Given the description of an element on the screen output the (x, y) to click on. 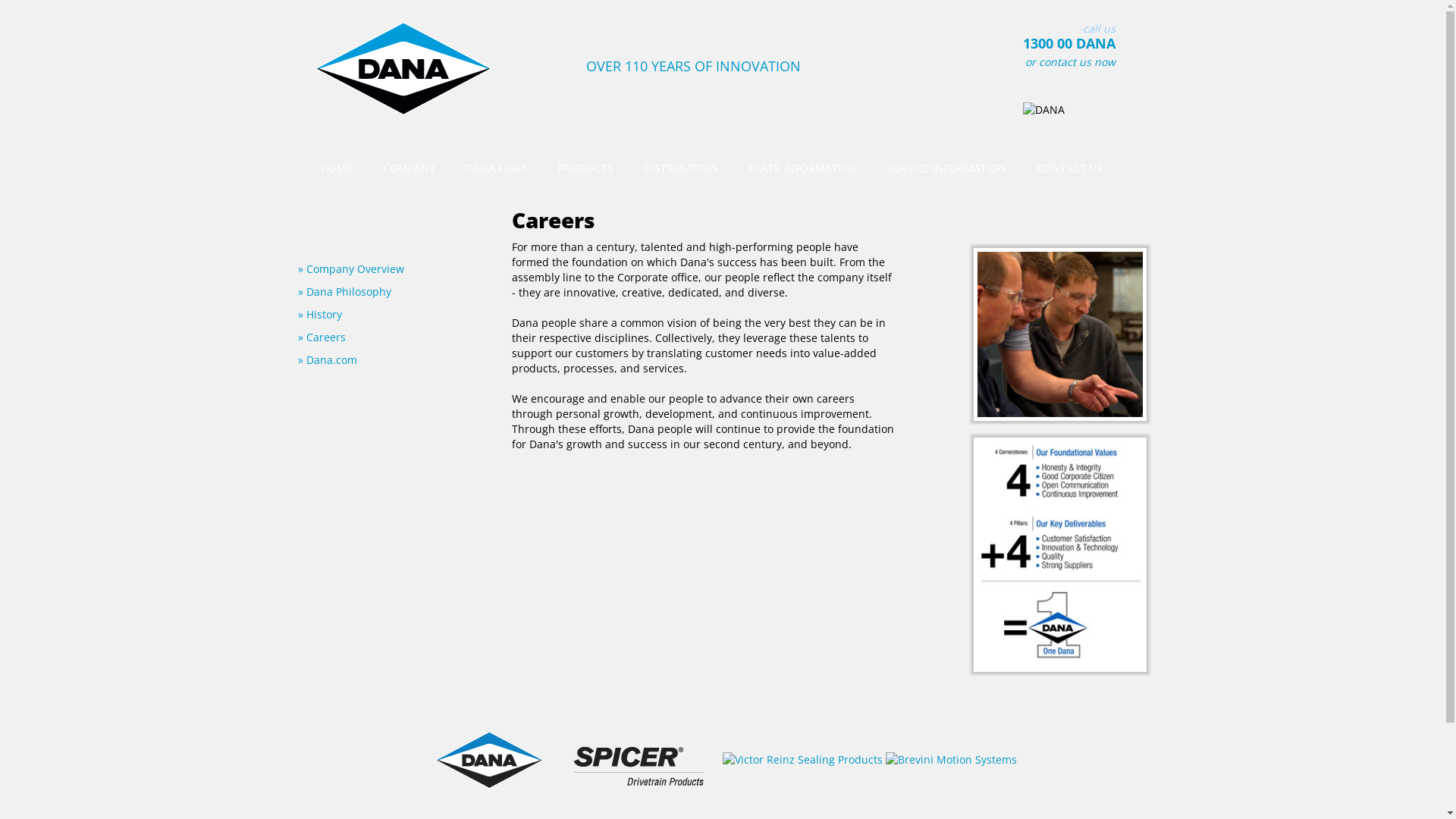
or contact us now Element type: text (1070, 61)
DANA LINKS Element type: text (496, 168)
PARTS INFORMATION Element type: text (801, 168)
HOME Element type: text (335, 168)
CONTACT US Element type: text (1068, 168)
DISTRIBUTORS Element type: text (680, 168)
COMPANY Element type: text (408, 168)
PRODUCTS Element type: text (585, 168)
SERVICE INFORMATION Element type: text (946, 168)
